Given the description of an element on the screen output the (x, y) to click on. 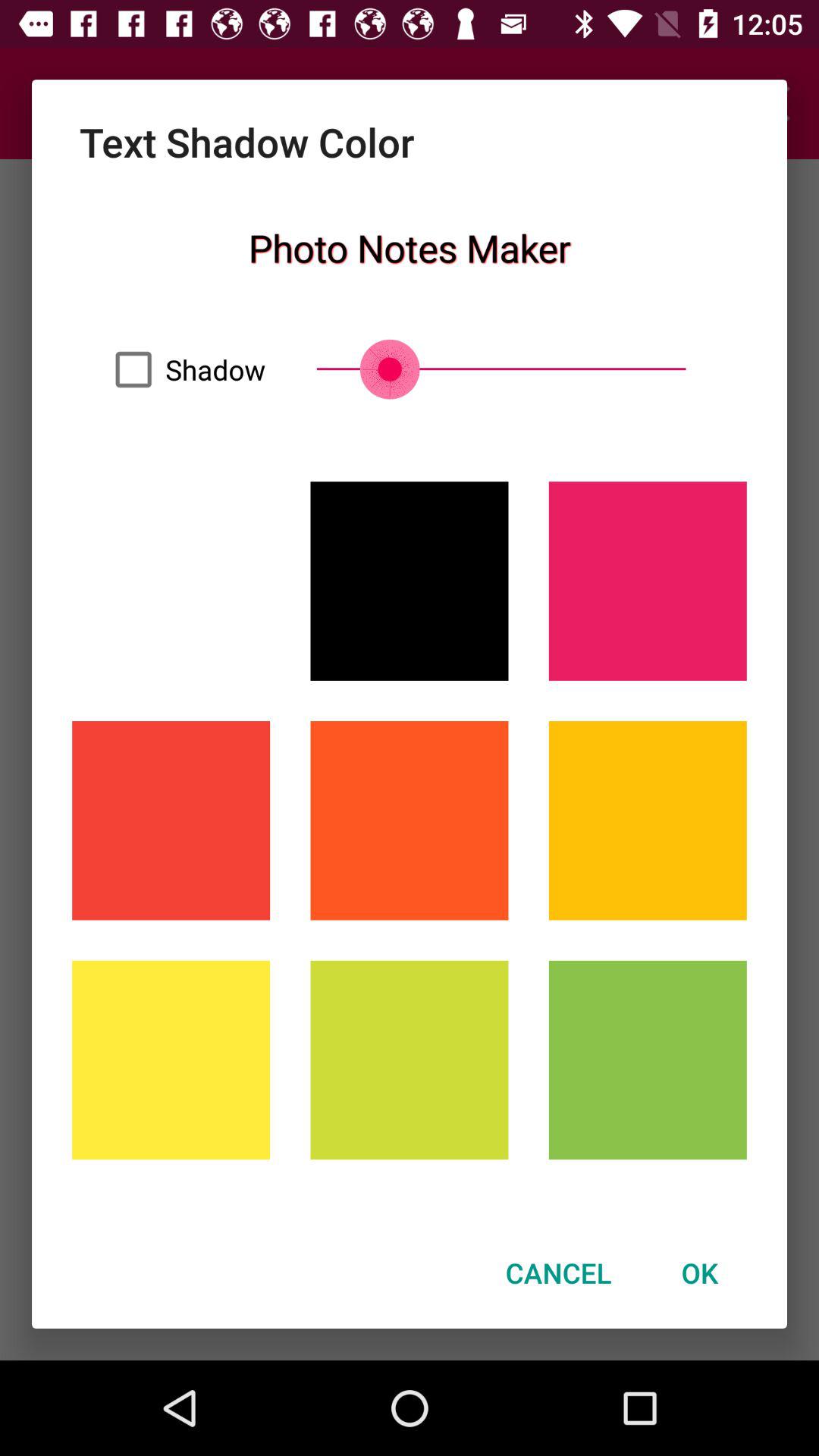
turn on ok (699, 1272)
